Given the description of an element on the screen output the (x, y) to click on. 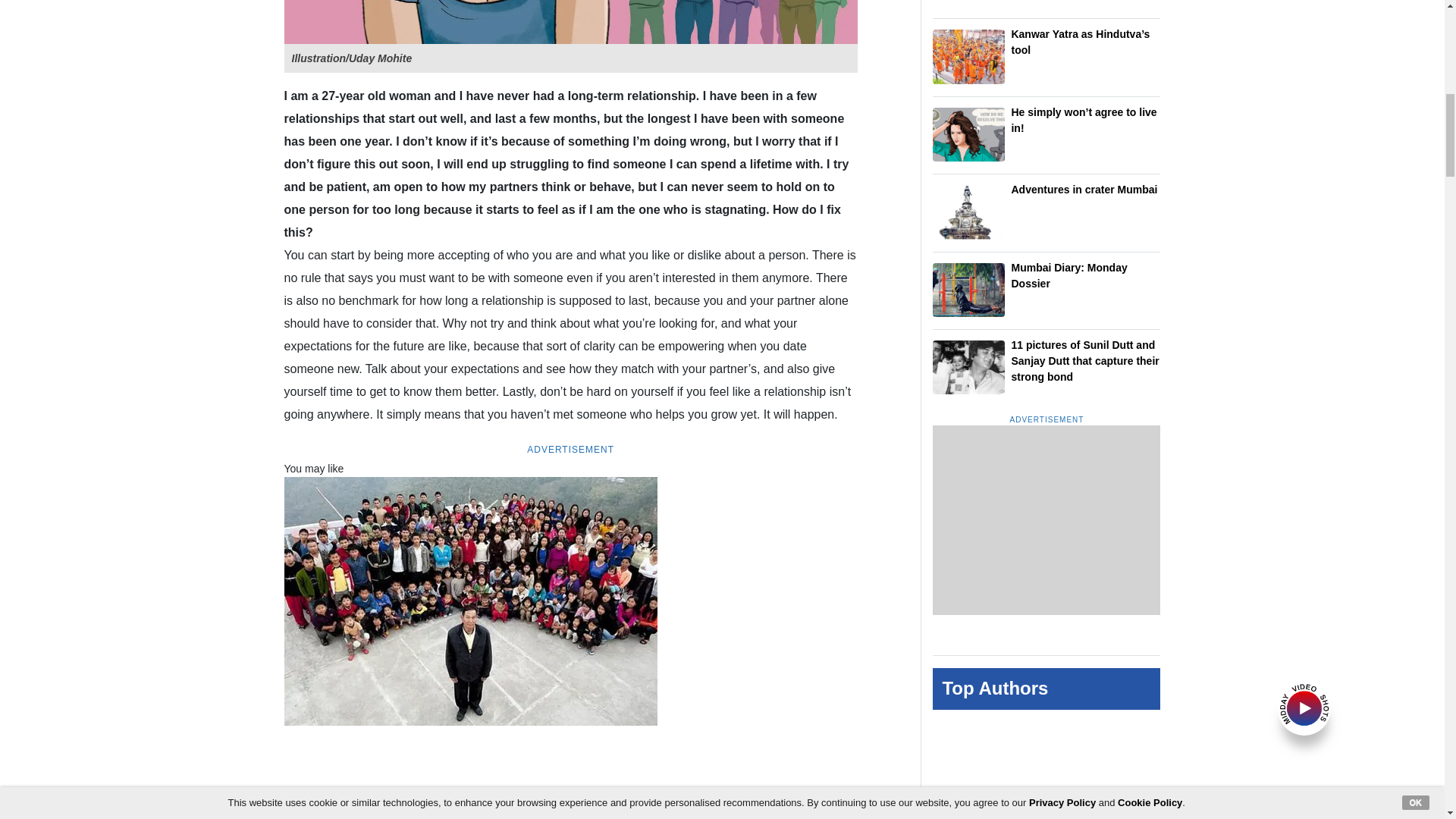
Adventures in crater Mumbai (968, 212)
